Given the description of an element on the screen output the (x, y) to click on. 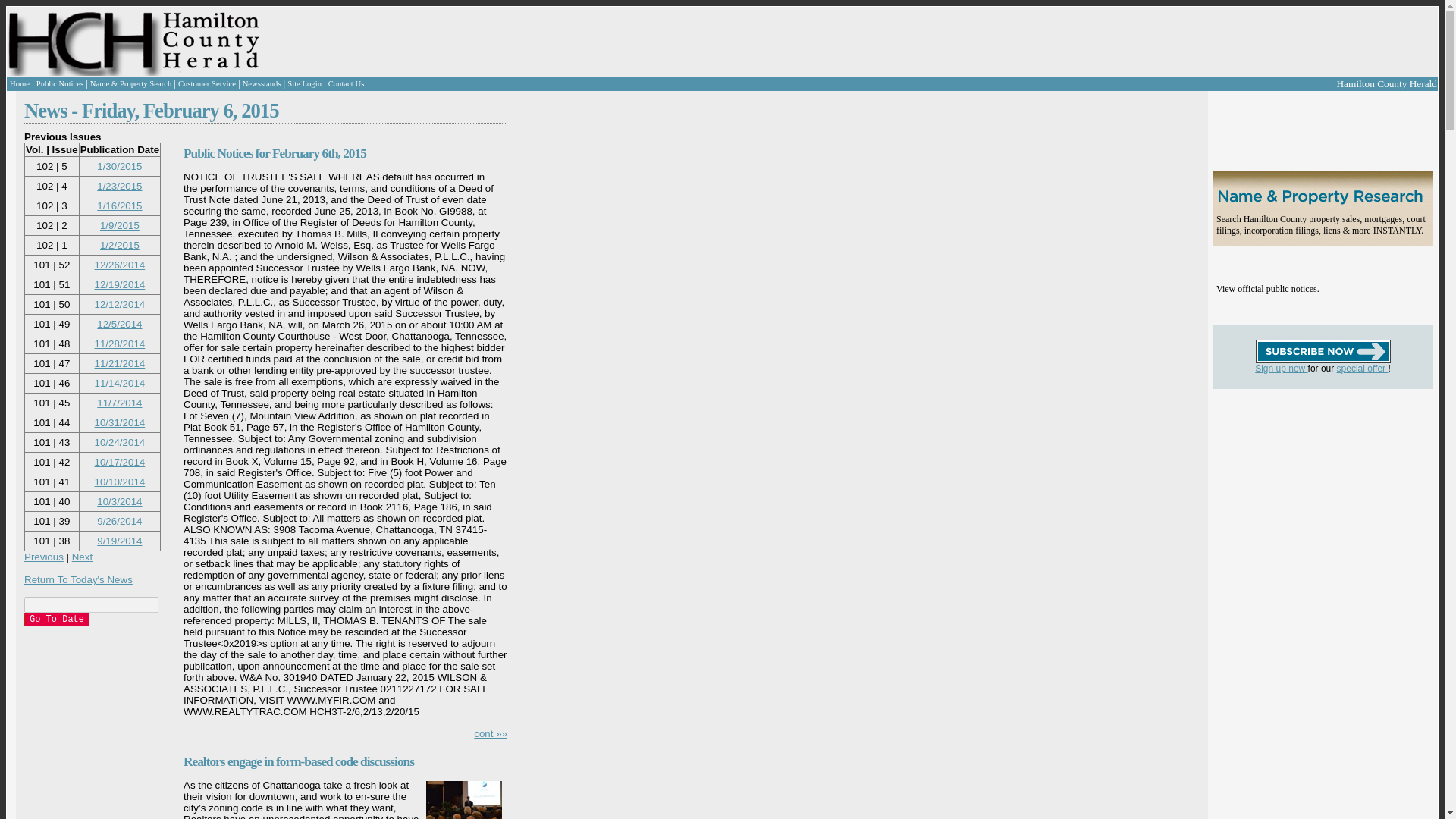
Home (19, 83)
Return To Today's News (78, 579)
3rd party ad content (579, 41)
Customer Service (206, 83)
3rd party ad content (1302, 483)
Go To Date (56, 619)
Site Login (303, 83)
Next (82, 556)
Newsstands (262, 83)
Contact Us (347, 83)
